Given the description of an element on the screen output the (x, y) to click on. 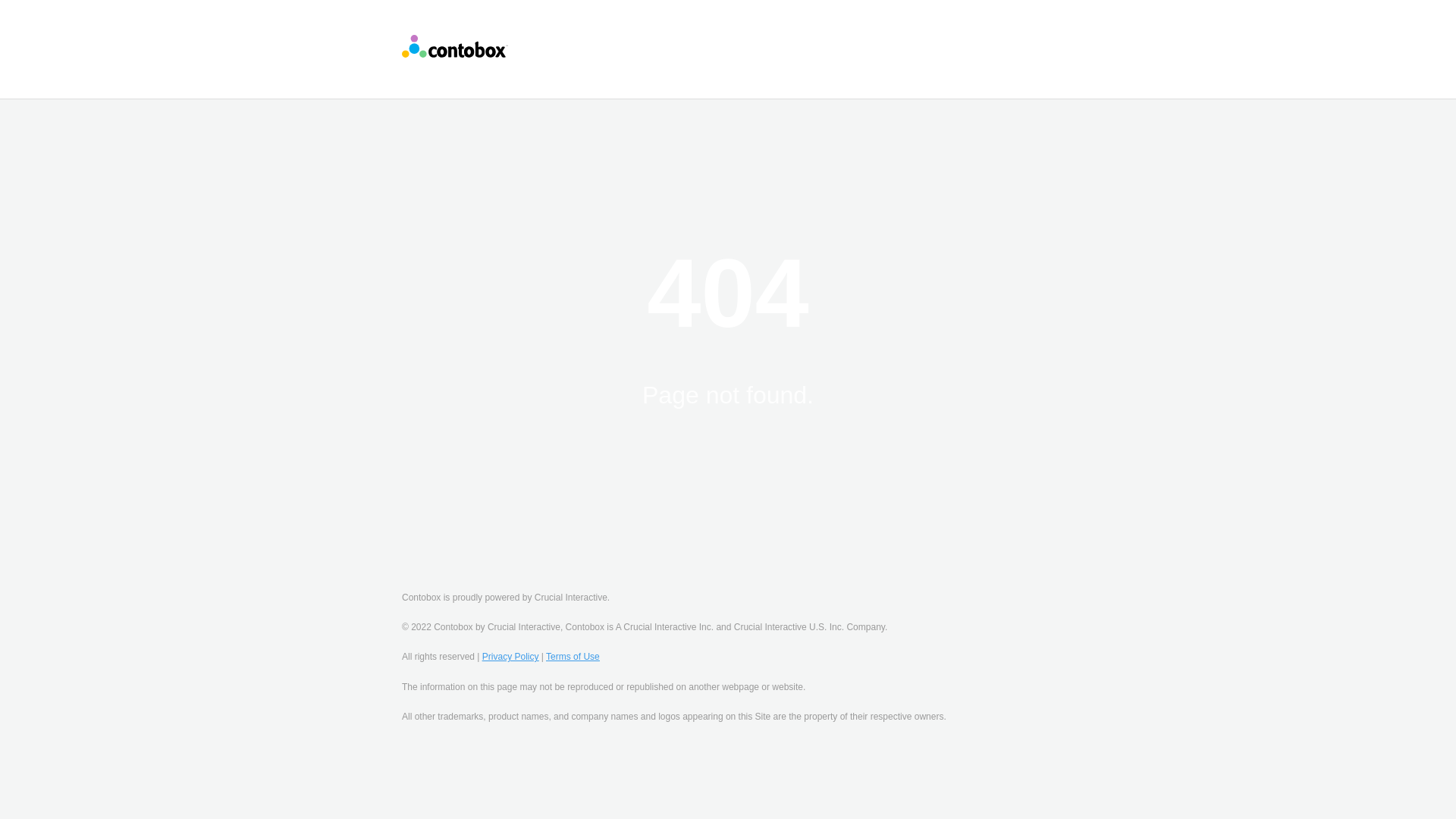
REPORTER (715, 62)
Privacy Policy (509, 656)
EDUCATION (555, 35)
DESIGN (641, 35)
DASHBOARD (729, 35)
CAMPAIGN FEED (926, 35)
PLANNER (823, 35)
Terms of Use (572, 656)
